Given the description of an element on the screen output the (x, y) to click on. 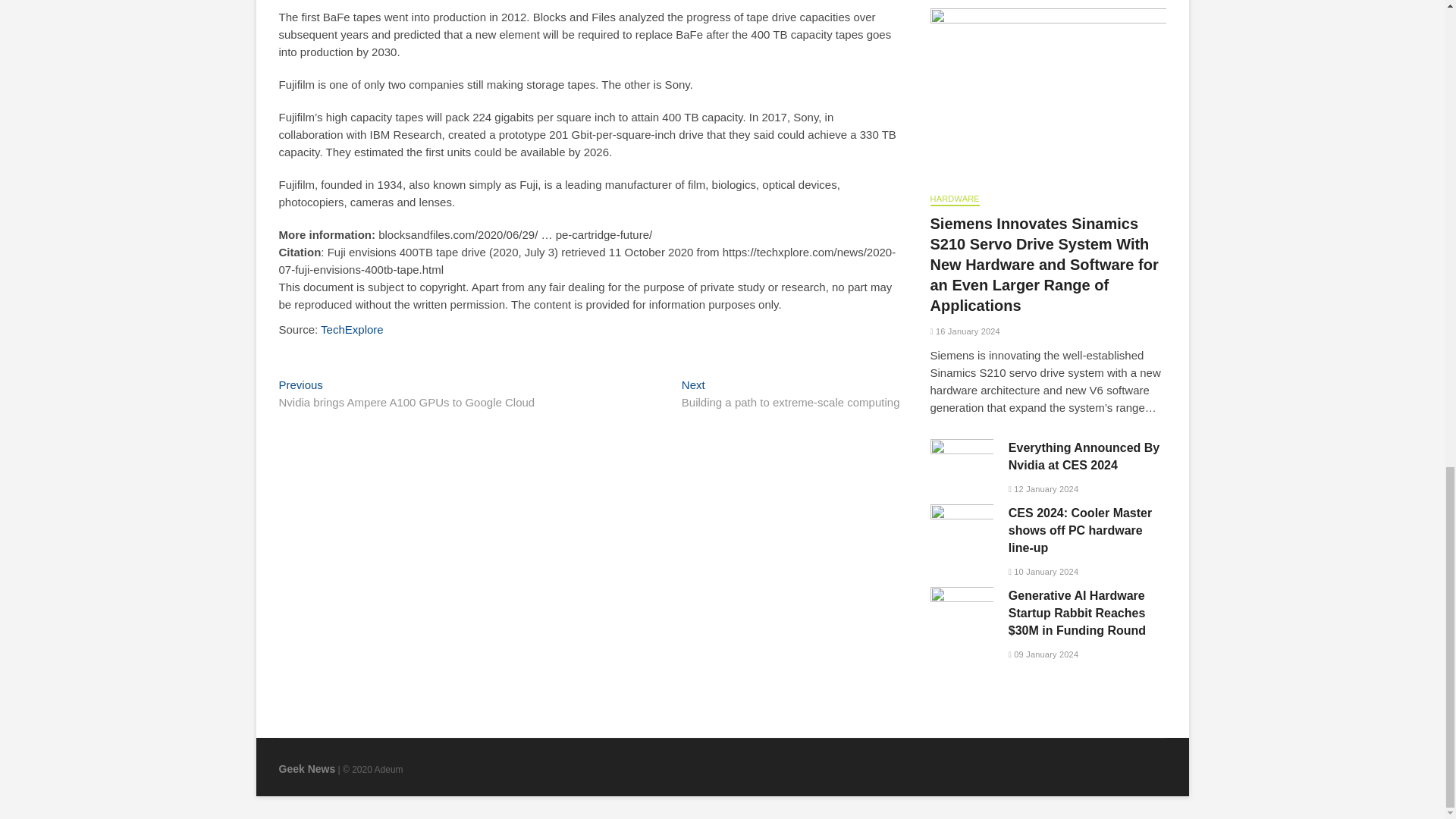
16 January 2024 (964, 330)
HARDWARE (954, 200)
TechExplore (352, 328)
